Given the description of an element on the screen output the (x, y) to click on. 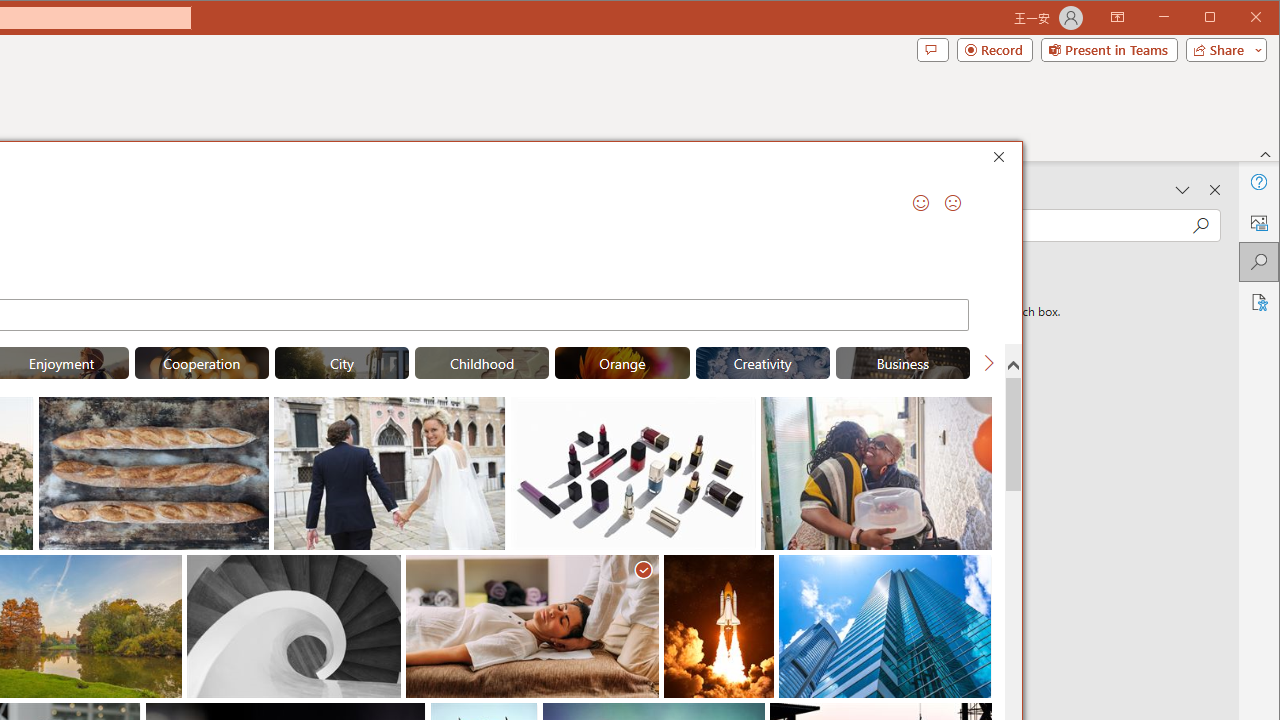
Thumbnail (977, 569)
"Business" Stock Images. (902, 362)
"Cooperation" Stock Images. (201, 362)
Next Search Suggestion (988, 362)
Send a Smile (920, 202)
